Given the description of an element on the screen output the (x, y) to click on. 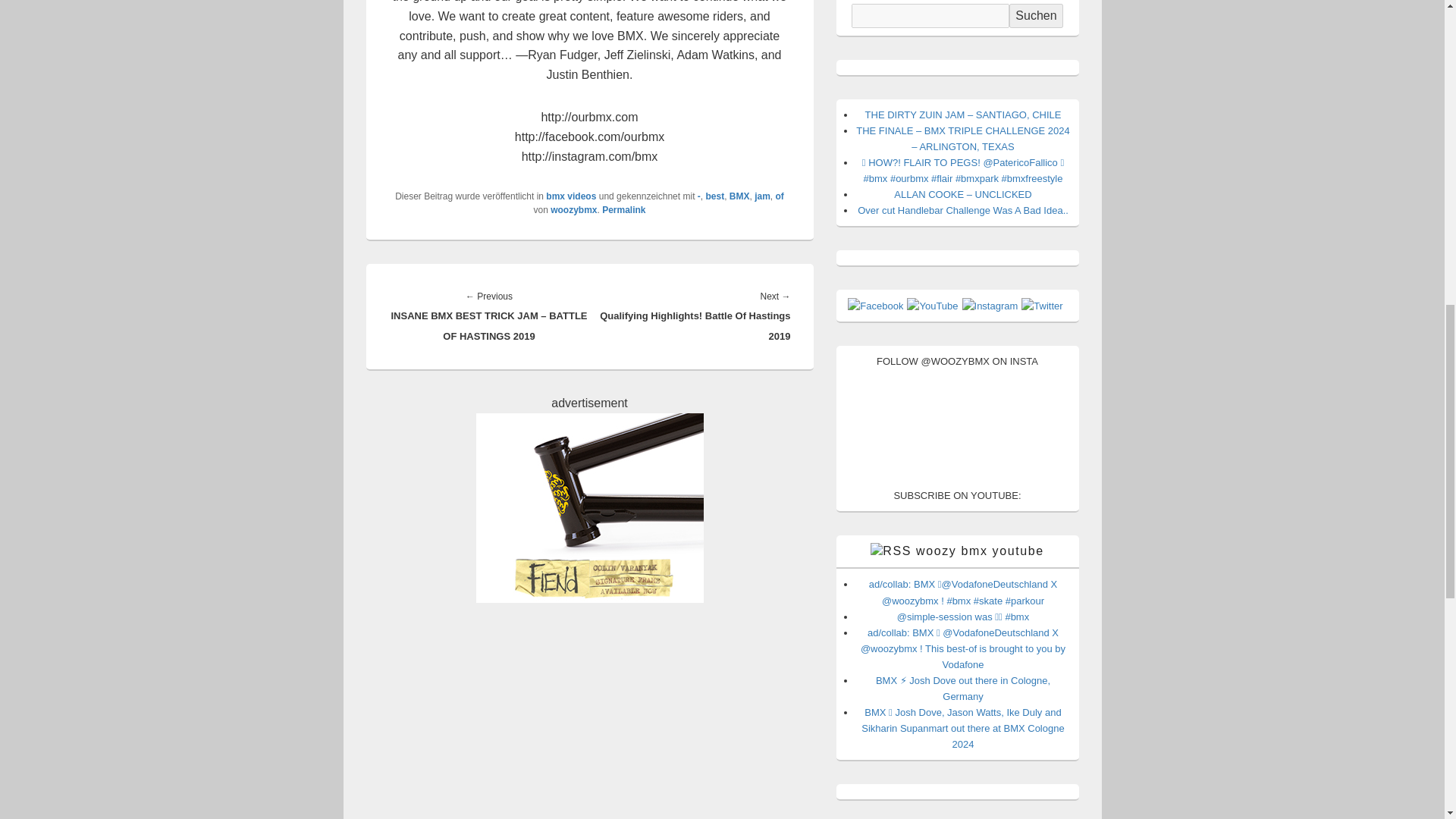
sibmx.de (589, 507)
Connect on Facebook (874, 306)
Follow woozybmx on Twitter (1042, 306)
Suchen (1035, 15)
best (713, 195)
jam (762, 195)
woozybmx (573, 209)
Over cut Handlebar Challenge Was A Bad Idea.. (962, 210)
woozybmx - YouTube (932, 306)
woozybmx on Instagram (989, 306)
